Given the description of an element on the screen output the (x, y) to click on. 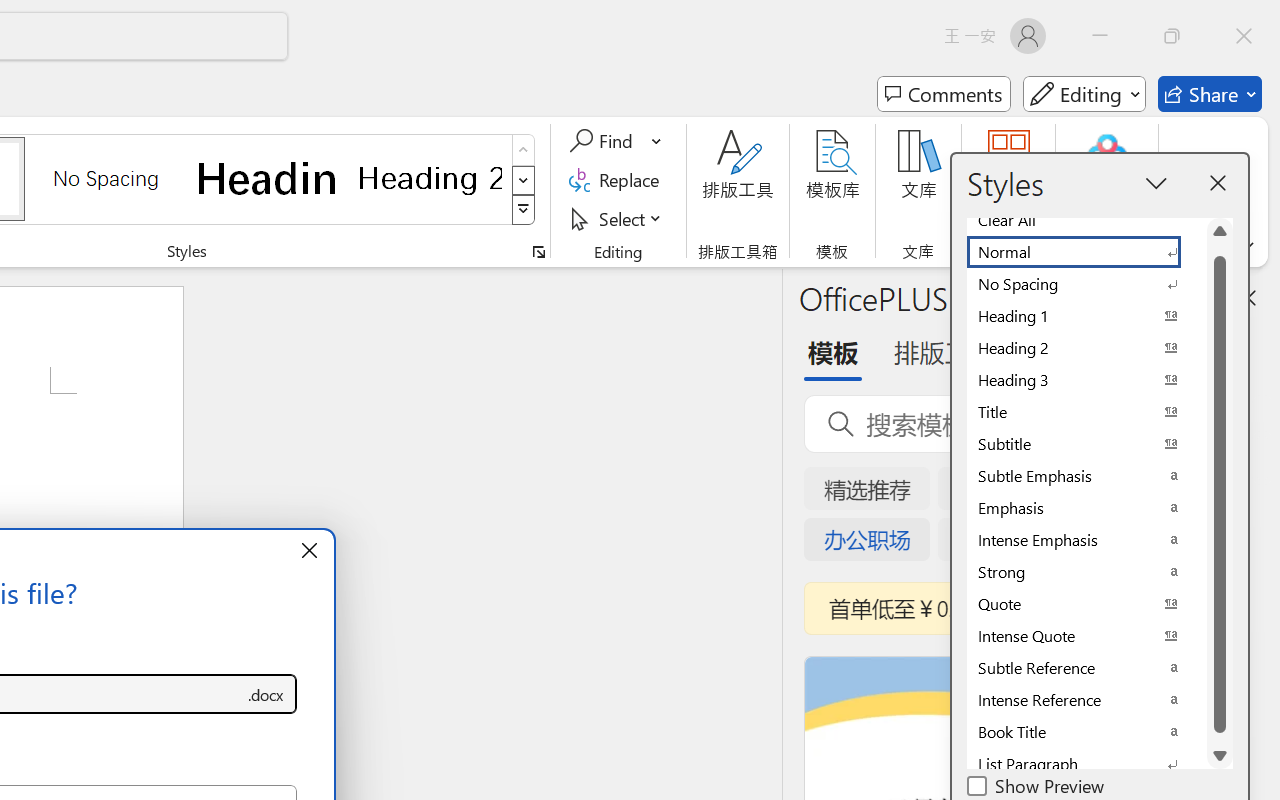
Share (1210, 94)
Book Title (1086, 732)
Find (616, 141)
Clear All (1086, 220)
Intense Emphasis (1086, 540)
Find (604, 141)
More Options (657, 141)
Intense Reference (1086, 700)
Save as type (265, 694)
Subtle Emphasis (1086, 475)
Heading 1 (267, 178)
Replace... (617, 179)
Styles (523, 209)
Minimize (1099, 36)
